Given the description of an element on the screen output the (x, y) to click on. 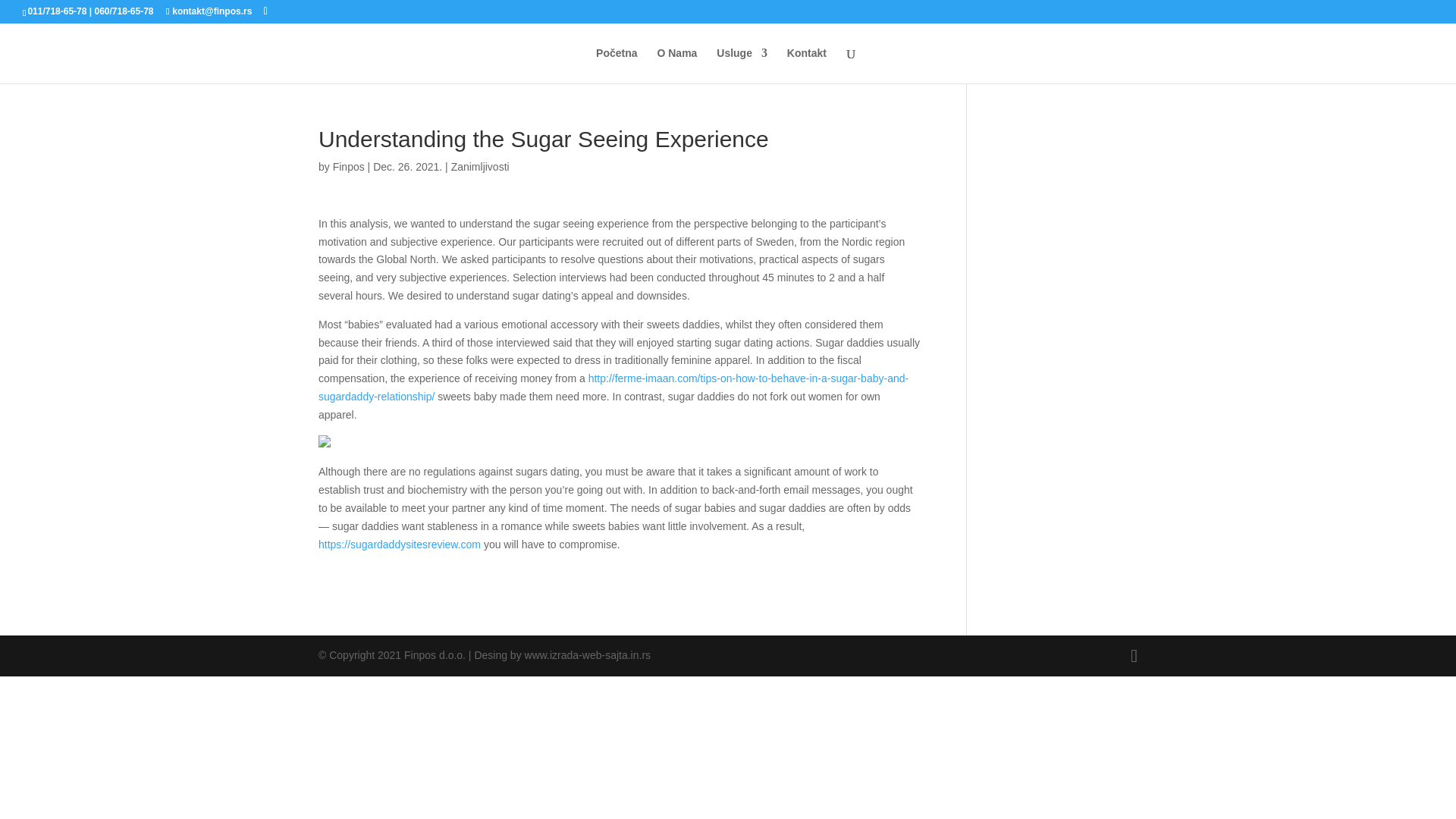
Finpos (349, 166)
O Nama (676, 65)
Kontakt (807, 65)
Usluge (741, 65)
Posts by Finpos (349, 166)
Zanimljivosti (480, 166)
